Given the description of an element on the screen output the (x, y) to click on. 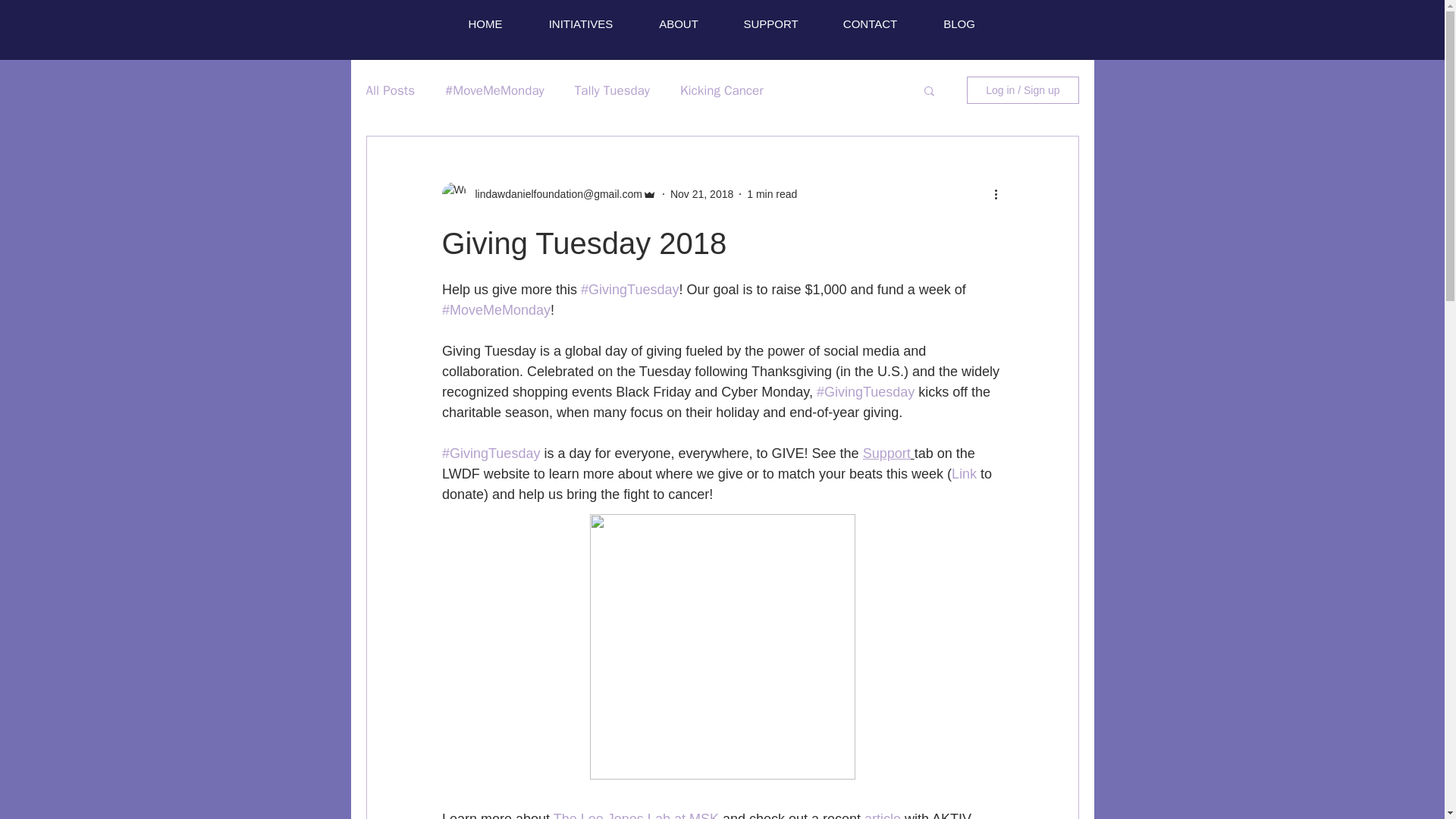
1 min read (771, 193)
Tally Tuesday (612, 90)
SUPPORT (771, 24)
The Lee Jones Lab at MSK (635, 815)
Support (885, 453)
INITIATIVES (580, 24)
All Posts (389, 90)
Link (962, 473)
Kicking Cancer (720, 90)
BLOG (959, 24)
